Given the description of an element on the screen output the (x, y) to click on. 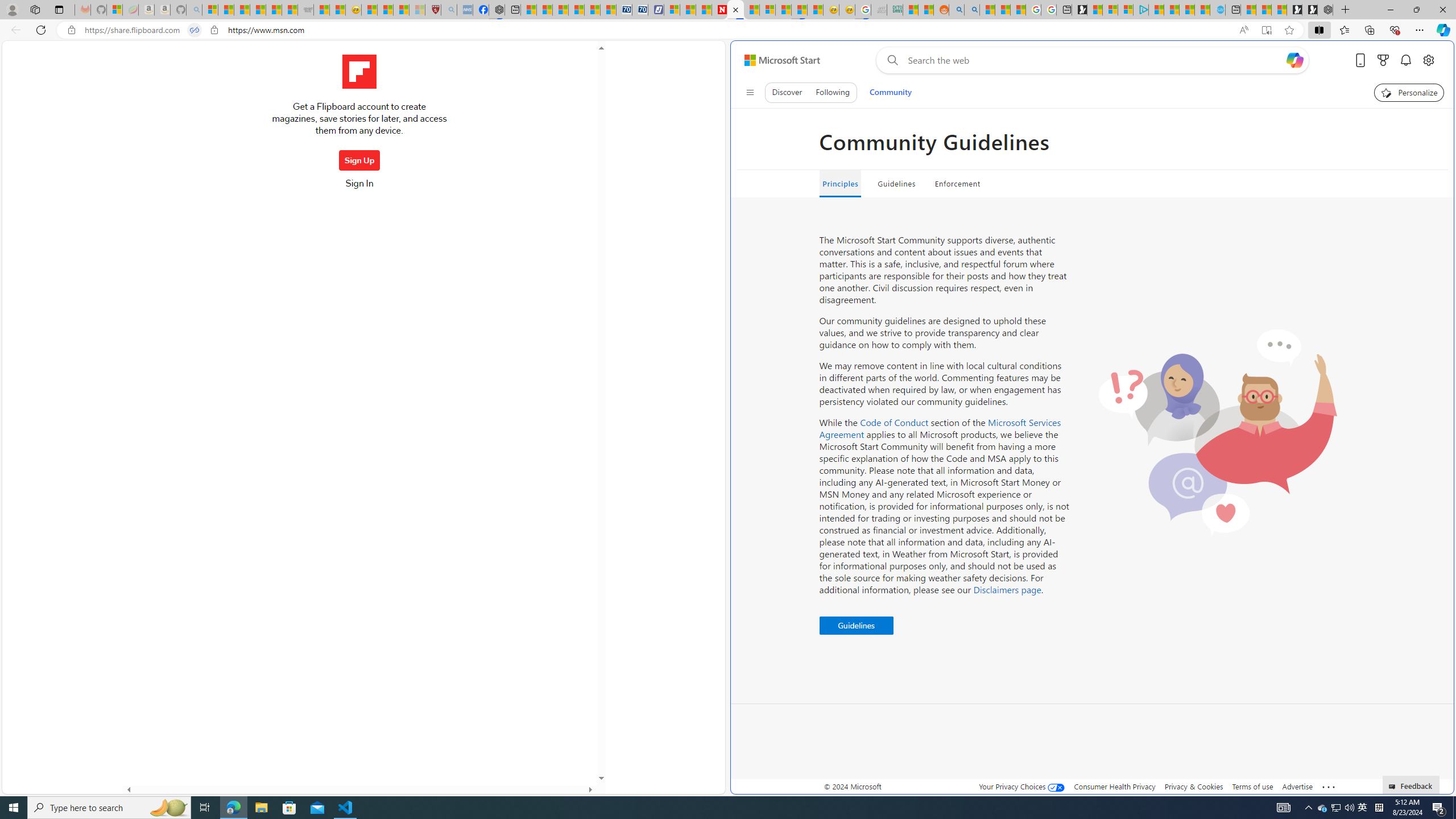
Enter Immersive Reader (F9) (1266, 29)
